Given the description of an element on the screen output the (x, y) to click on. 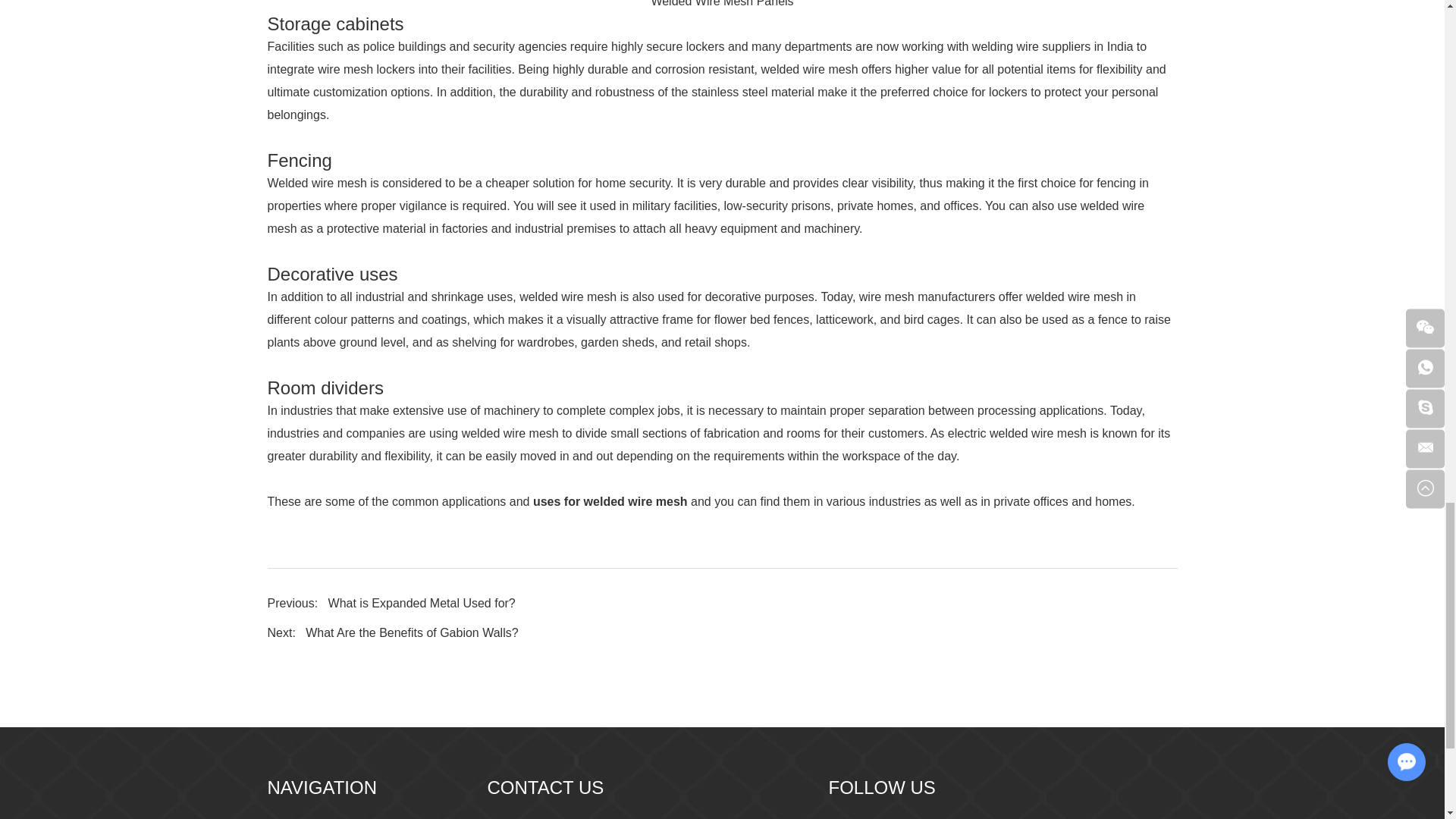
uses for welded wire mesh (609, 501)
What is Expanded Metal Used for? (422, 603)
What Are the Benefits of Gabion Walls? (411, 632)
